Given the description of an element on the screen output the (x, y) to click on. 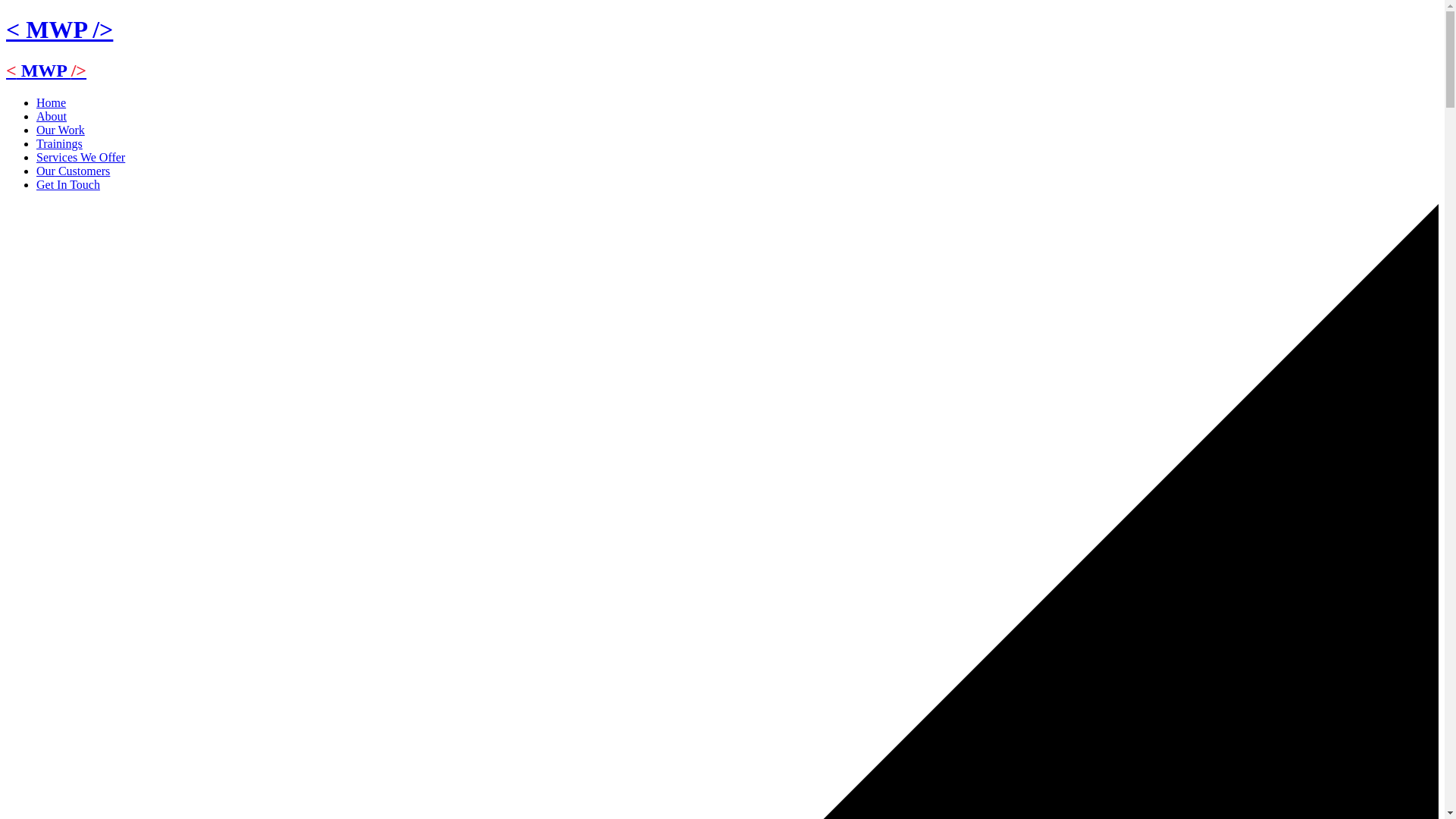
Our Customers (73, 170)
Our Work (60, 129)
About (51, 115)
Services We Offer (80, 156)
Get In Touch (68, 184)
Home (50, 102)
Trainings (59, 143)
